Given the description of an element on the screen output the (x, y) to click on. 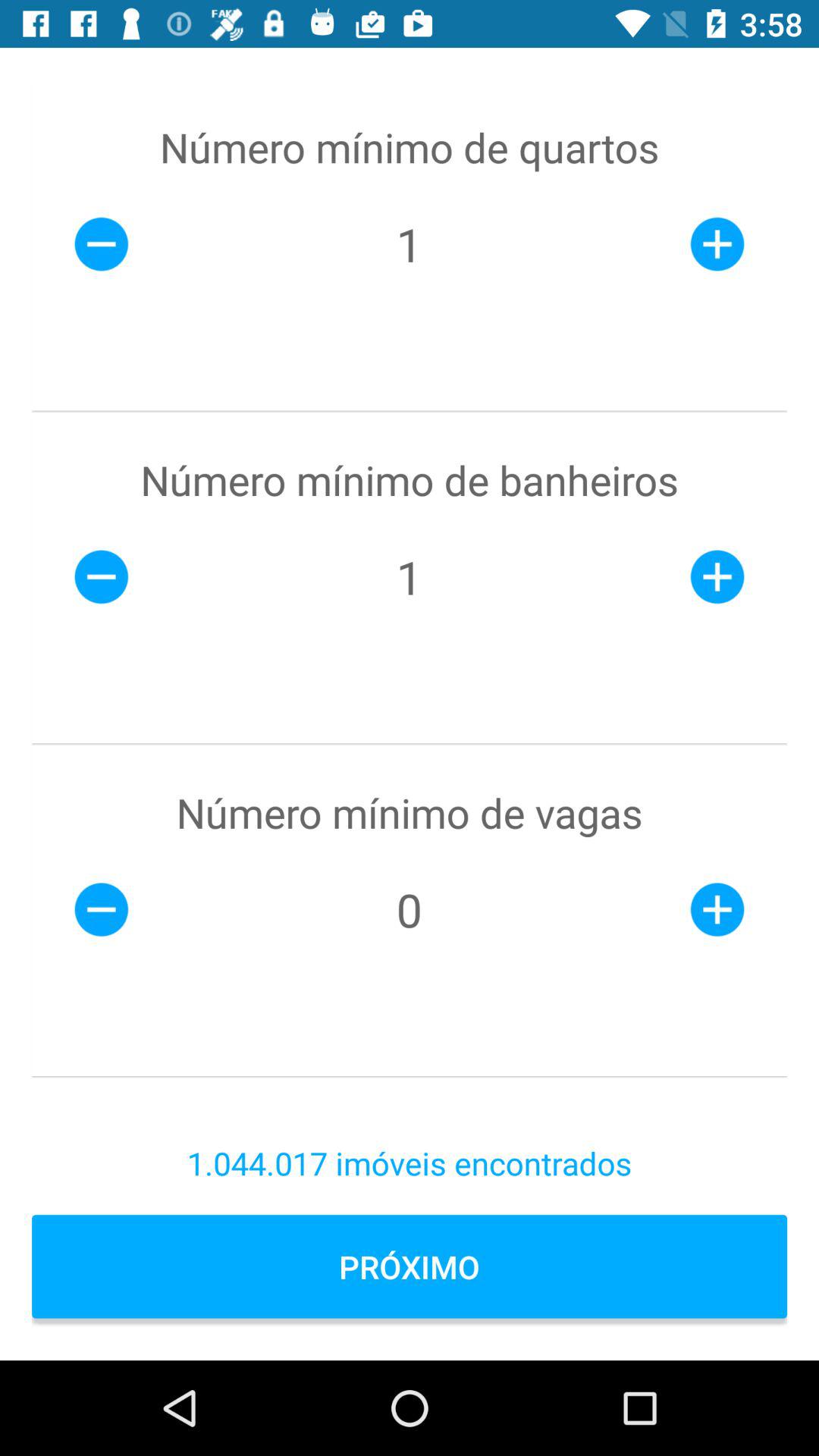
click on the  button which is in the second row (101, 576)
click on the last  button which is right side of the page (717, 909)
click on plus icon right to 1 which is below numero minimo de quartos (717, 244)
